Given the description of an element on the screen output the (x, y) to click on. 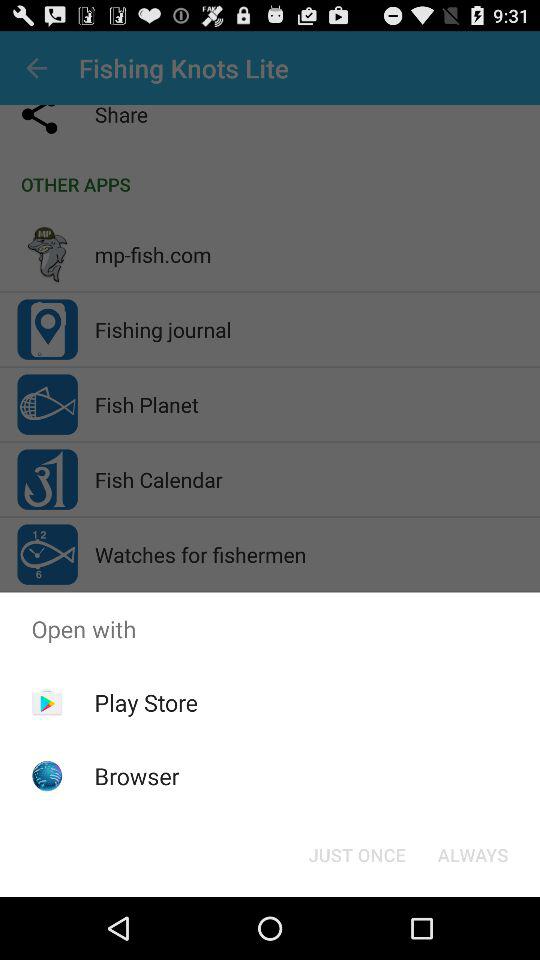
tap item next to always button (356, 854)
